Given the description of an element on the screen output the (x, y) to click on. 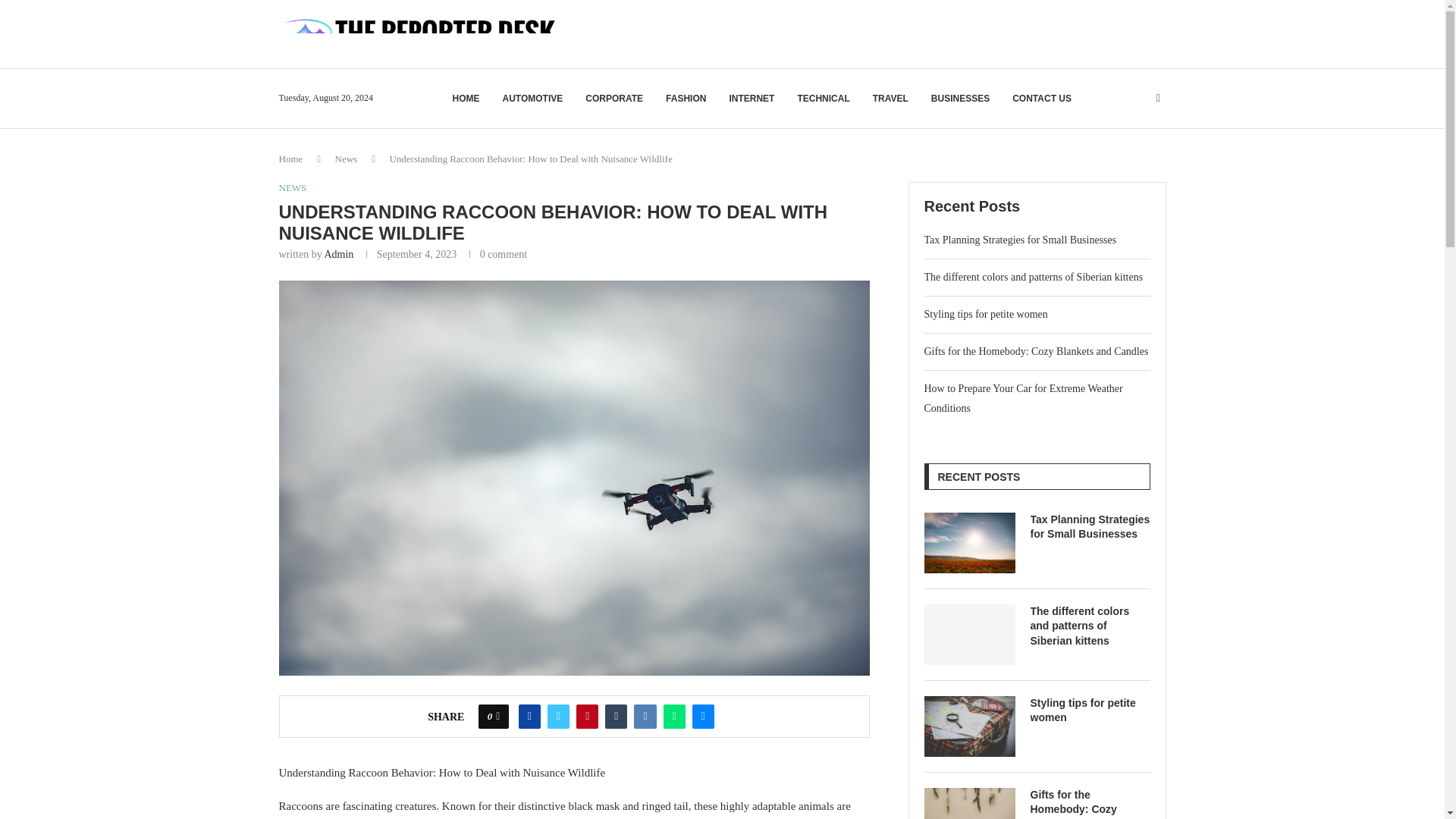
BUSINESSES (960, 98)
Search (1117, 127)
Tax Planning Strategies for Small Businesses (968, 542)
CONTACT US (1041, 98)
AUTOMOTIVE (532, 98)
CORPORATE (614, 98)
FASHION (685, 98)
TECHNICAL (822, 98)
INTERNET (751, 98)
